Given the description of an element on the screen output the (x, y) to click on. 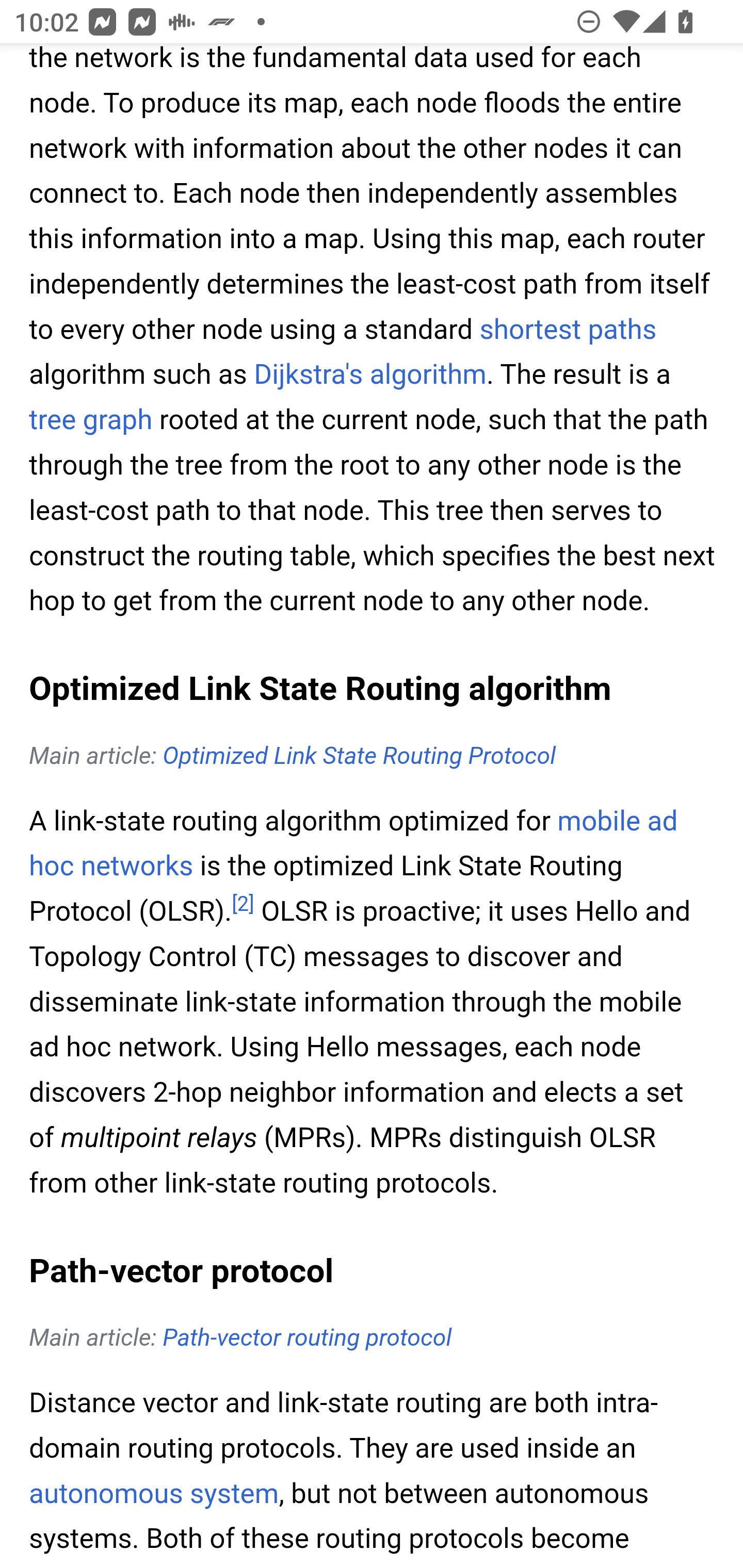
shortest paths (567, 329)
Dijkstra's algorithm (369, 374)
tree graph (90, 419)
Optimized Link State Routing Protocol (359, 754)
mobile ad hoc networks (353, 842)
[] [ 2 ] (242, 904)
Path-vector routing protocol (307, 1338)
autonomous system (153, 1493)
